Given the description of an element on the screen output the (x, y) to click on. 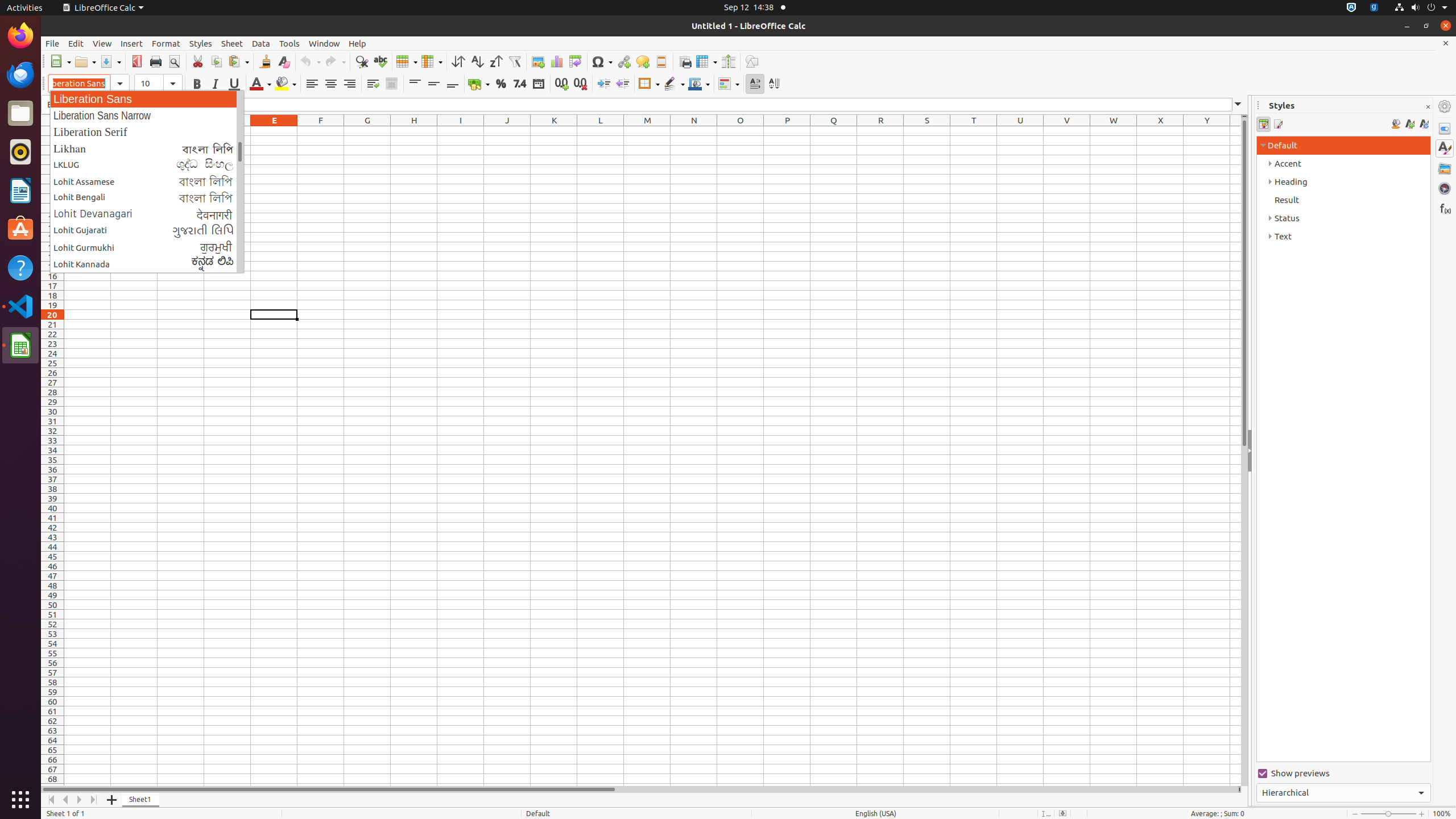
Find & Replace Element type: toggle-button (361, 61)
Expand Formula Bar Element type: push-button (1237, 104)
Row Element type: push-button (406, 61)
Border Color Element type: push-button (698, 83)
Border Style Element type: push-button (673, 83)
